Given the description of an element on the screen output the (x, y) to click on. 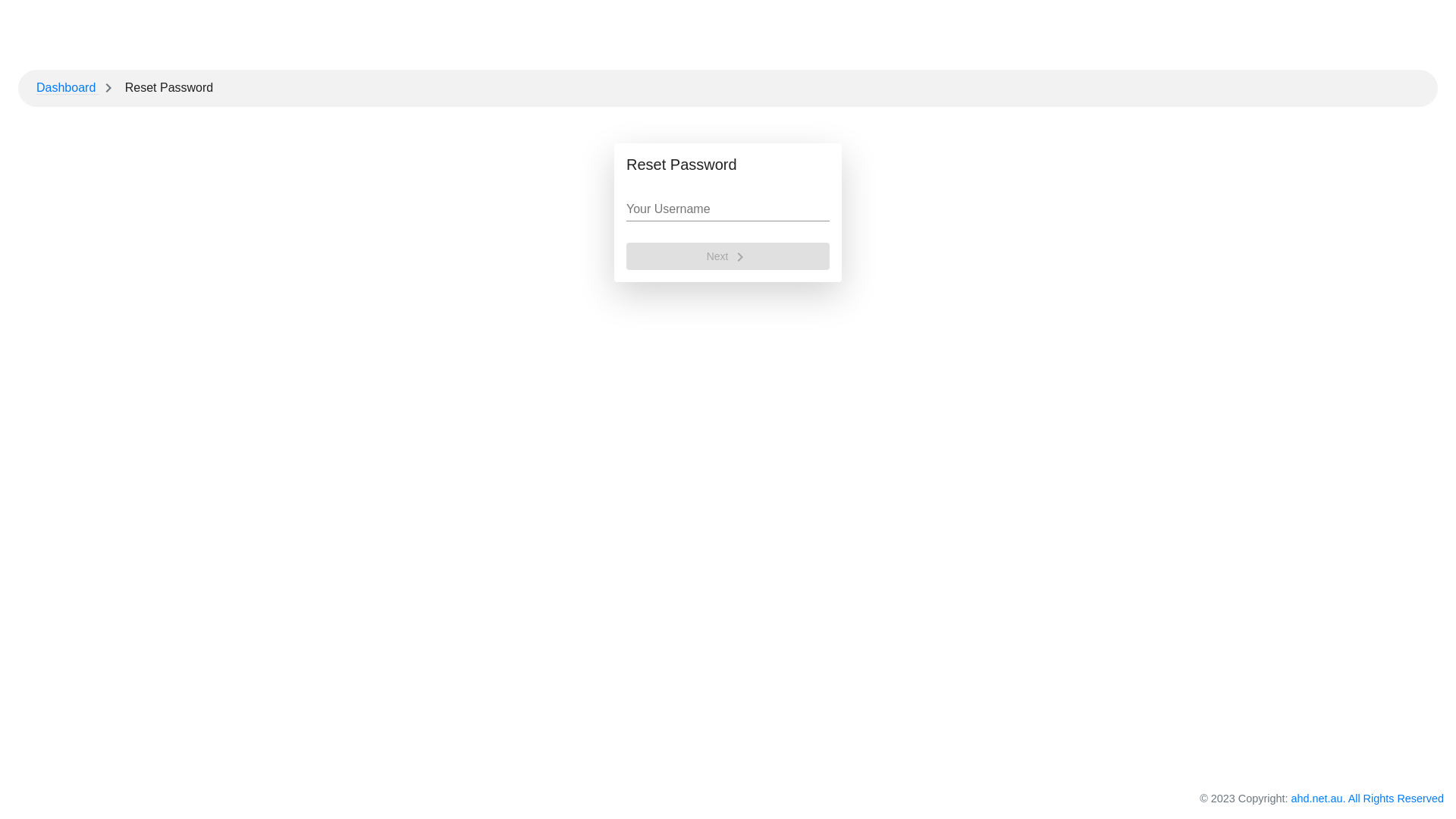
Dashboard Element type: text (67, 87)
Next keyboard_arrow_right Element type: text (727, 255)
ahd.net.au. All Rights Reserved Element type: text (1366, 798)
